Given the description of an element on the screen output the (x, y) to click on. 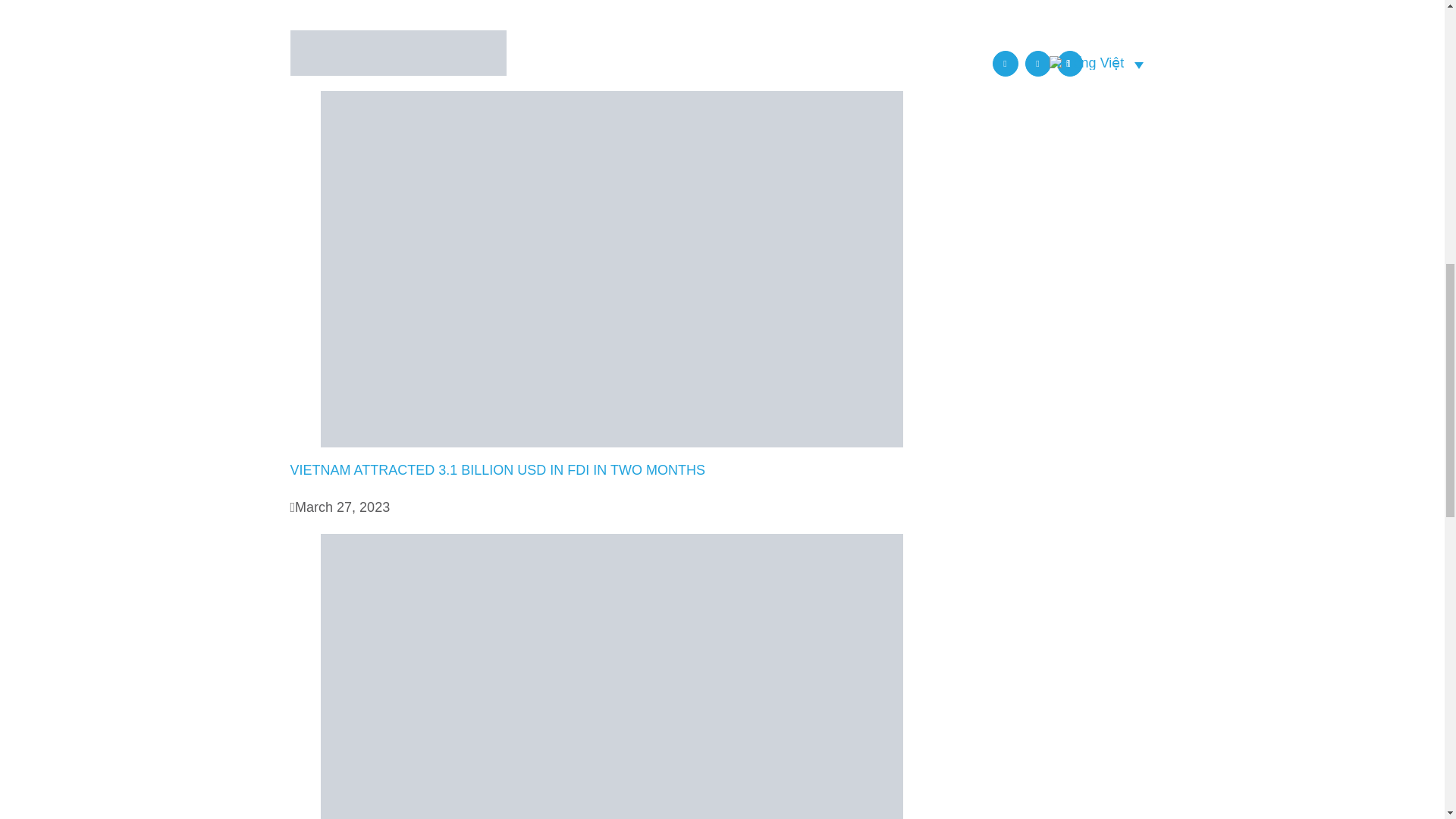
VIETNAM ATTRACTED 3.1 BILLION USD IN FDI IN TWO MONTHS (496, 469)
VIETNAM ATTRACTED 3.1 BILLION USD IN FDI IN TWO MONTHS (496, 469)
